Given the description of an element on the screen output the (x, y) to click on. 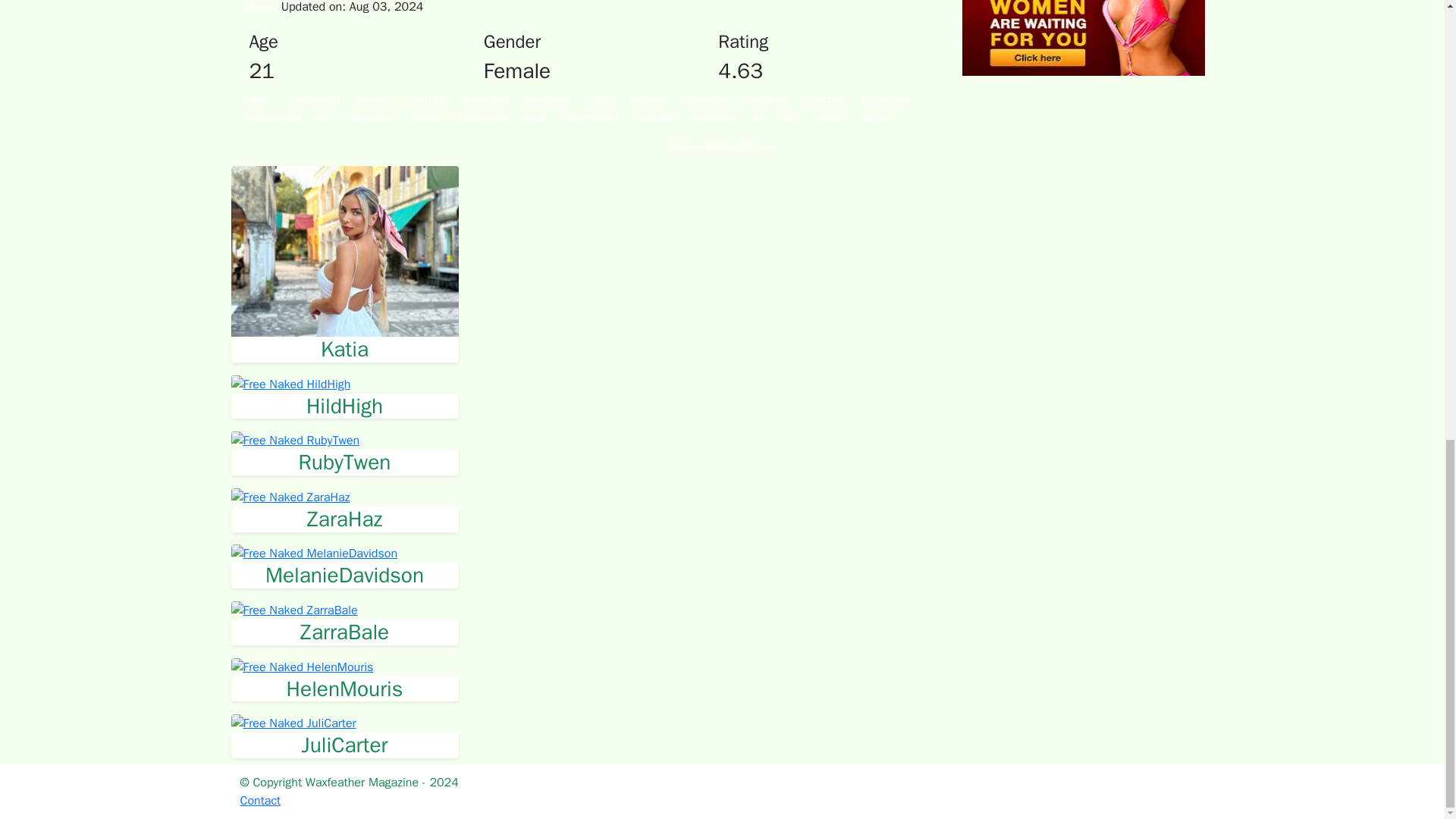
Free Naked Katia (344, 250)
HildHigh (344, 406)
Free Naked HildHigh (290, 383)
MelanieDavidson (344, 575)
RubyTwen (344, 462)
Free Naked Katia (344, 349)
ZaraHaz (344, 519)
Katia (344, 349)
Free Naked HildHigh (344, 406)
